Given the description of an element on the screen output the (x, y) to click on. 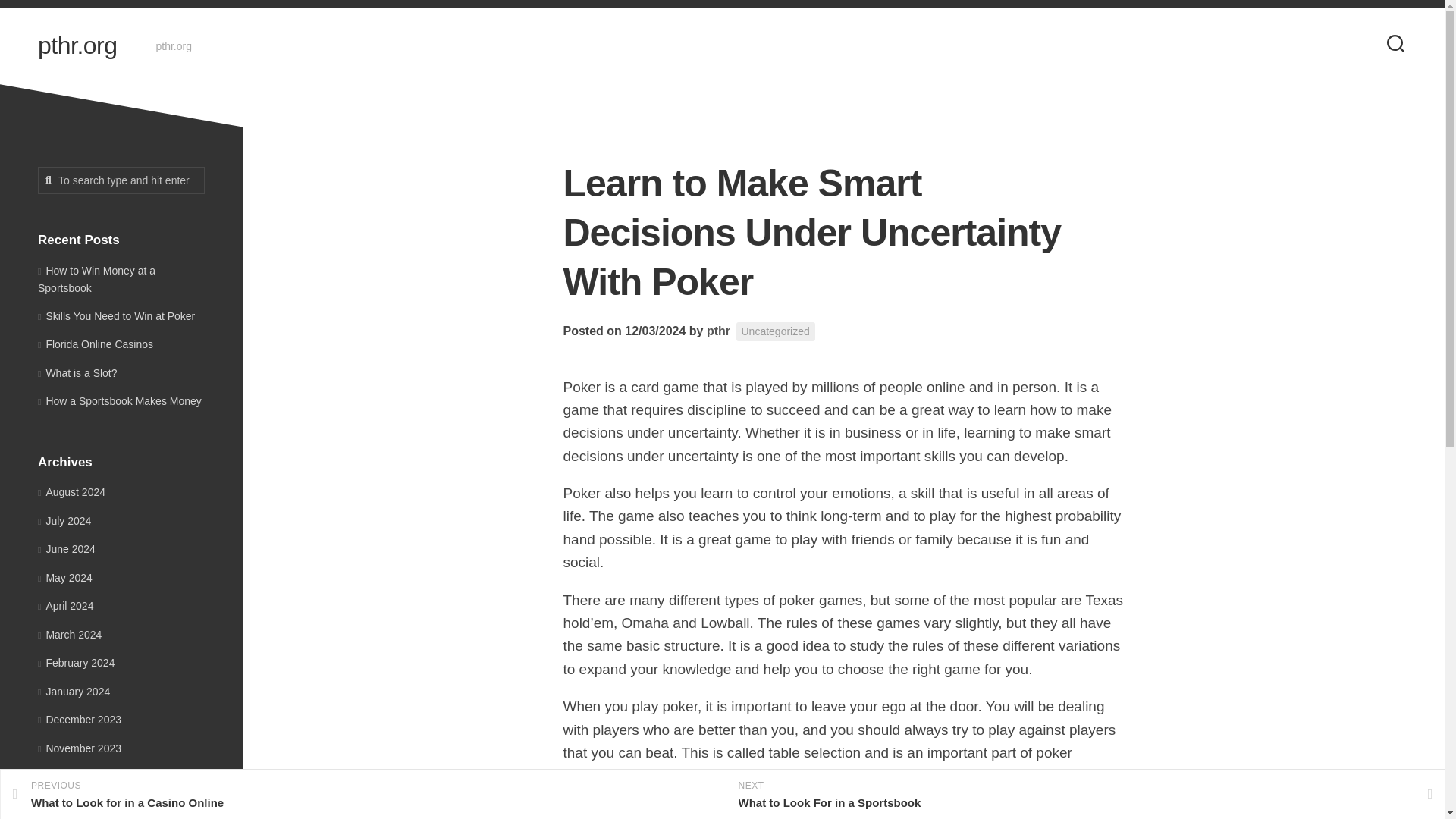
August 2024 (70, 491)
November 2023 (78, 747)
December 2023 (361, 794)
February 2024 (78, 719)
How a Sportsbook Makes Money (76, 662)
January 2024 (119, 400)
pthr.org (73, 691)
What is a Slot? (77, 44)
April 2024 (77, 372)
